Given the description of an element on the screen output the (x, y) to click on. 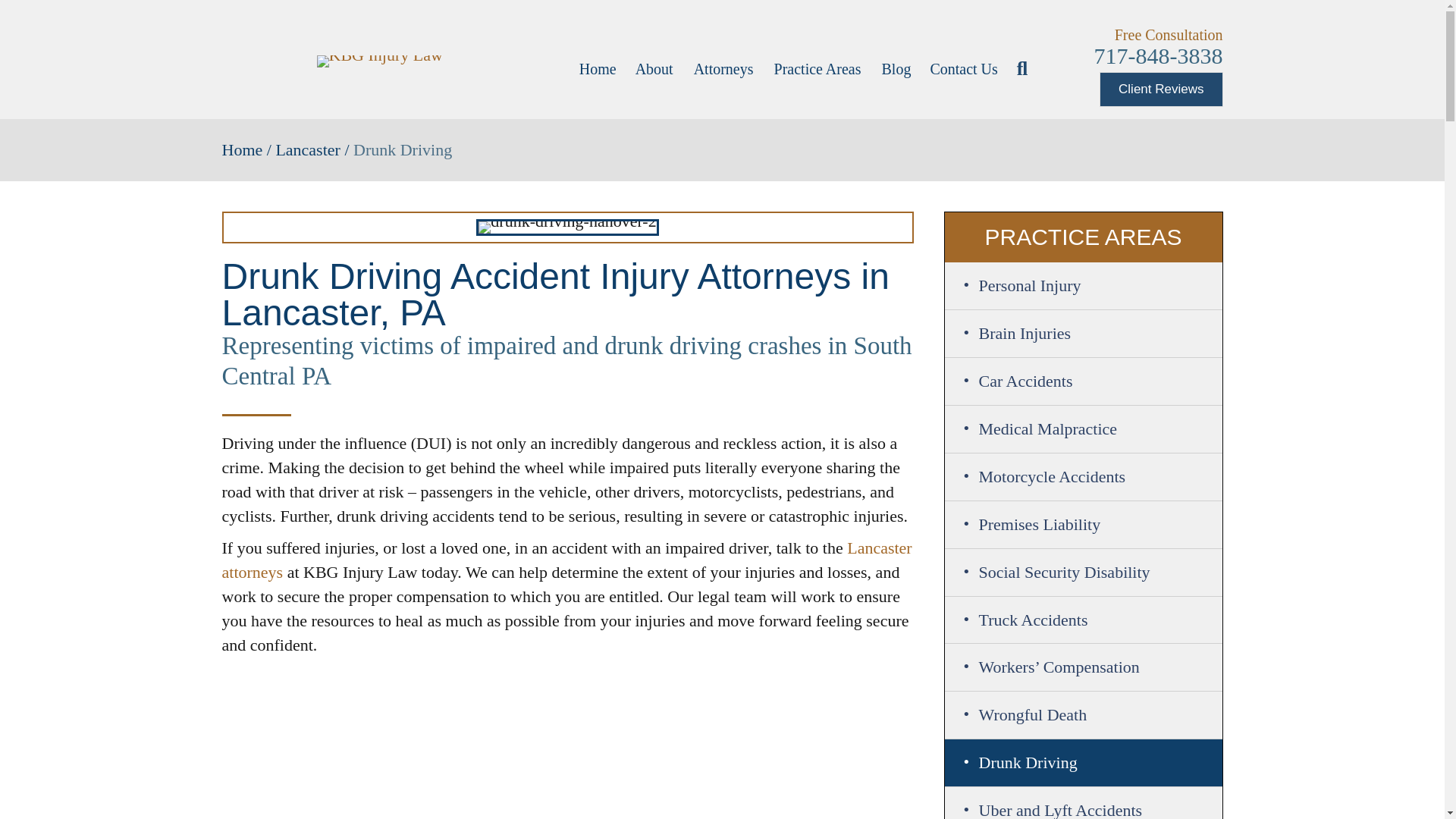
Attorneys (724, 68)
drunk-driving-hanover-2 (567, 227)
Home (598, 68)
Practice Areas (818, 68)
About (655, 68)
KBG Injury Law (379, 61)
